Given the description of an element on the screen output the (x, y) to click on. 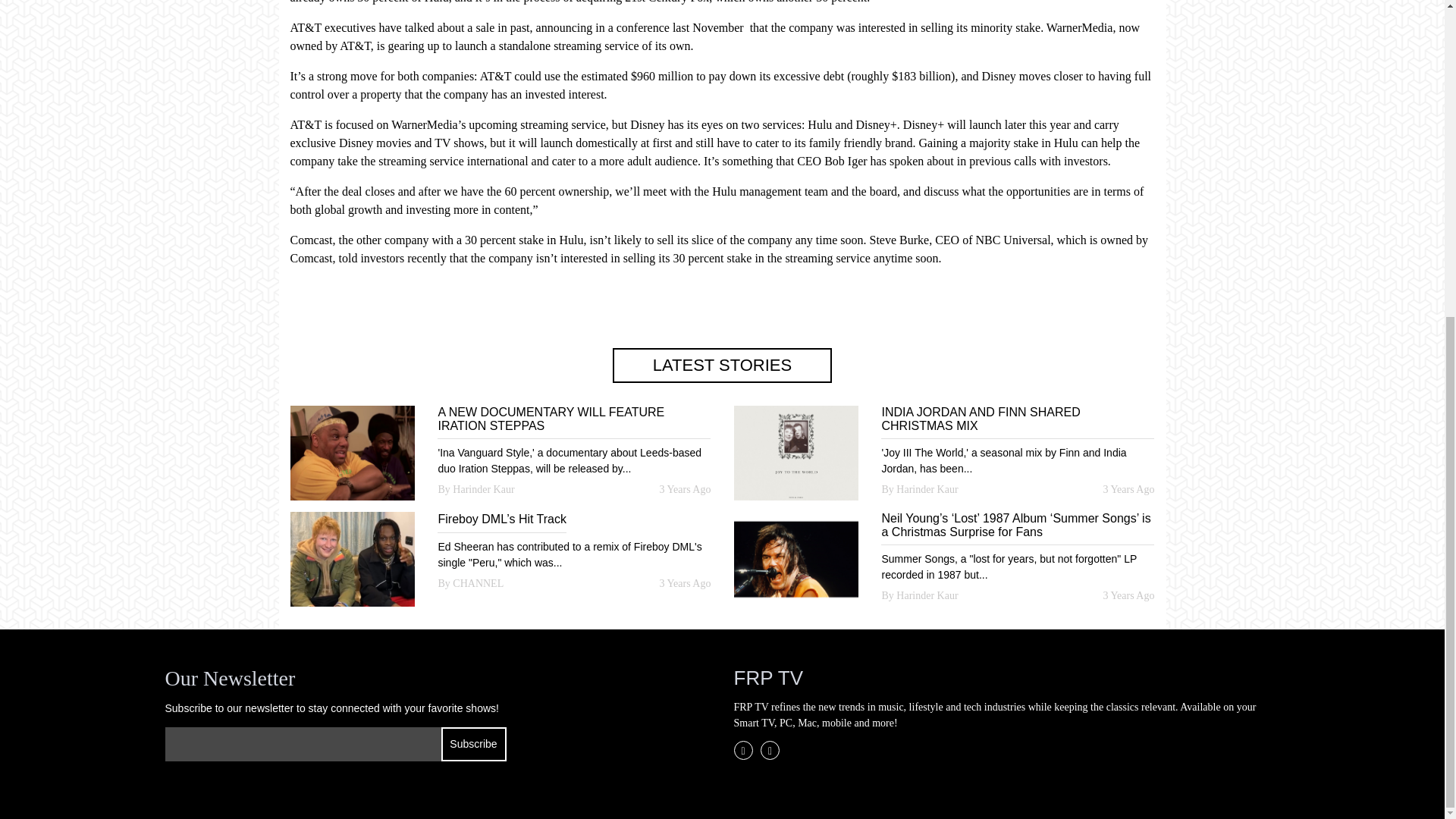
Subscribe (473, 744)
